Given the description of an element on the screen output the (x, y) to click on. 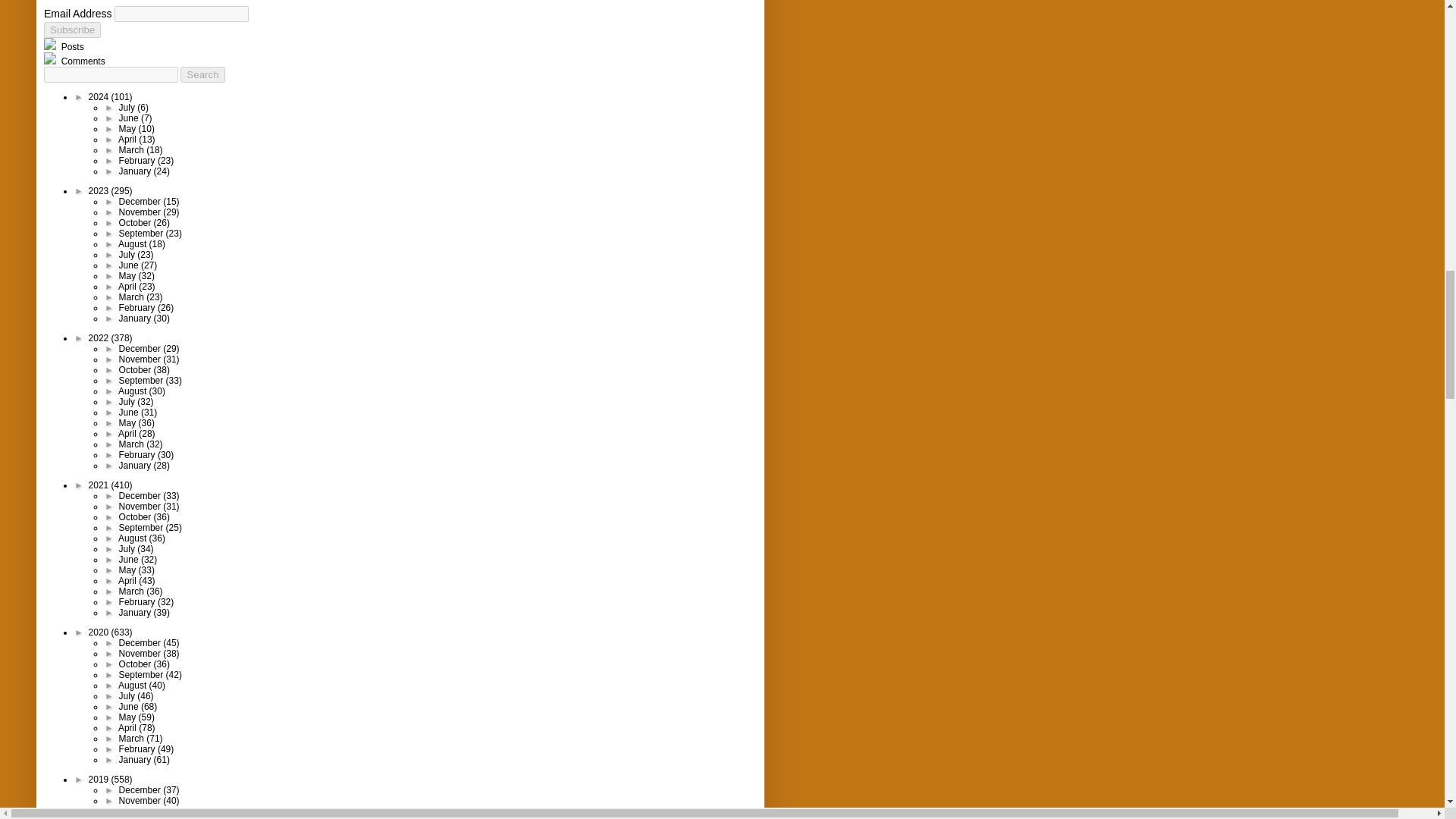
Search (202, 74)
Subscribe (71, 29)
Subscribe (71, 29)
